Given the description of an element on the screen output the (x, y) to click on. 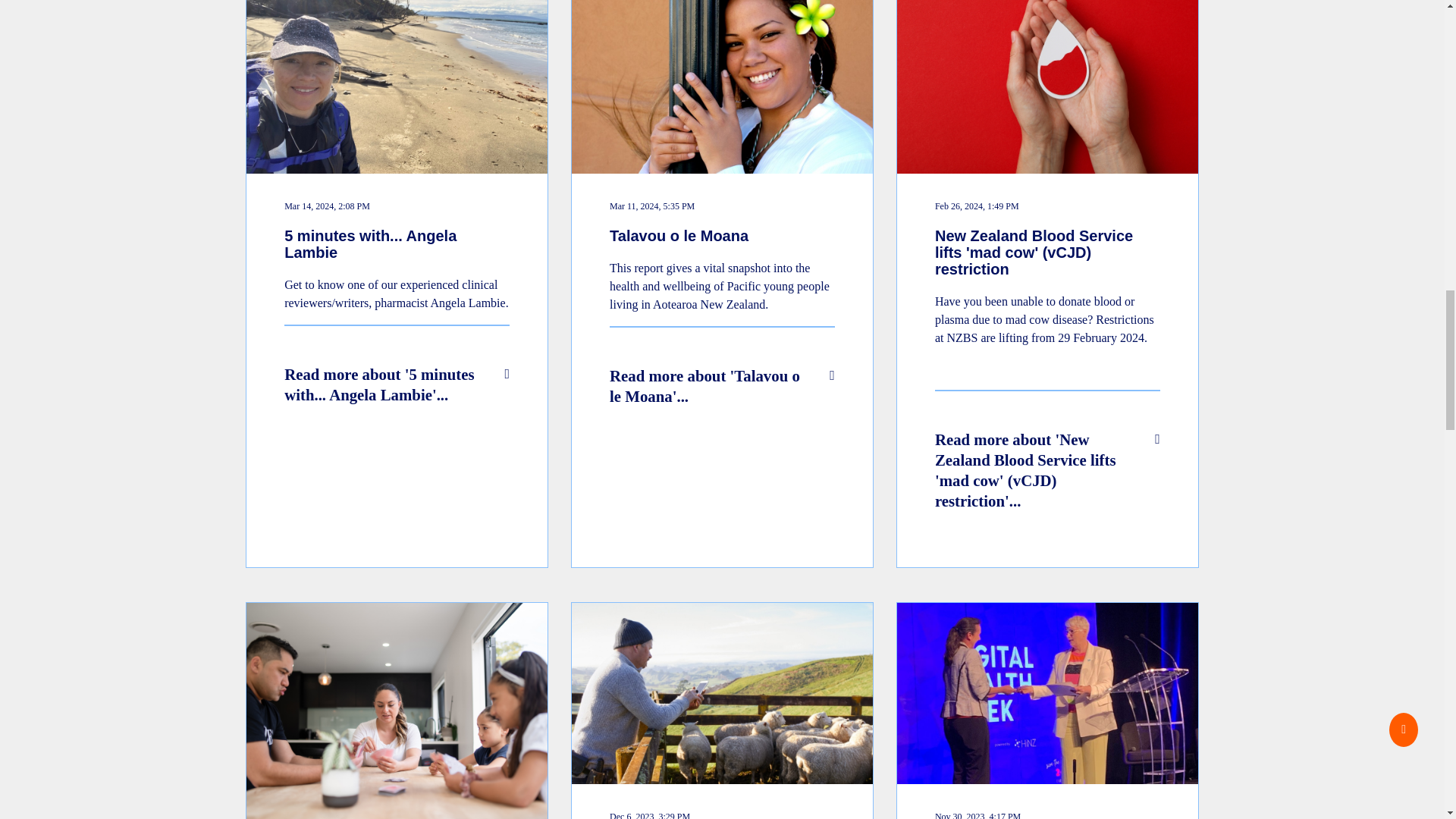
Read more about 'Rural telehealth service launched'... (721, 710)
